Given the description of an element on the screen output the (x, y) to click on. 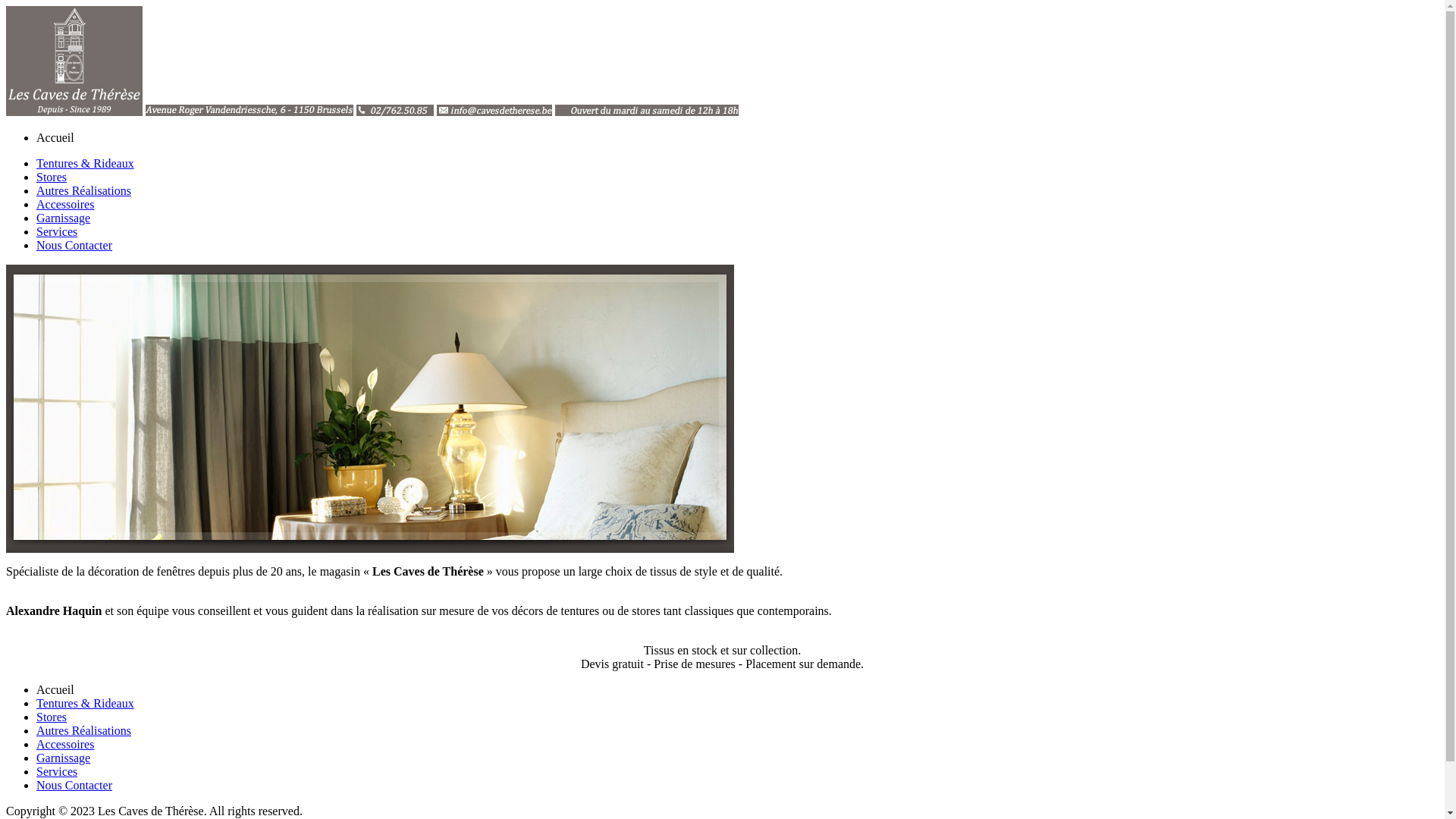
Garnissage Element type: text (63, 217)
Services Element type: text (56, 771)
Tentures & Rideaux Element type: text (85, 702)
Nous Contacter Element type: text (74, 244)
Garnissage Element type: text (63, 757)
Accessoires Element type: text (65, 743)
Tentures & Rideaux Element type: text (85, 162)
Stores Element type: text (51, 716)
Services Element type: text (56, 231)
Stores Element type: text (51, 176)
Accessoires Element type: text (65, 203)
Nous Contacter Element type: text (74, 784)
